Given the description of an element on the screen output the (x, y) to click on. 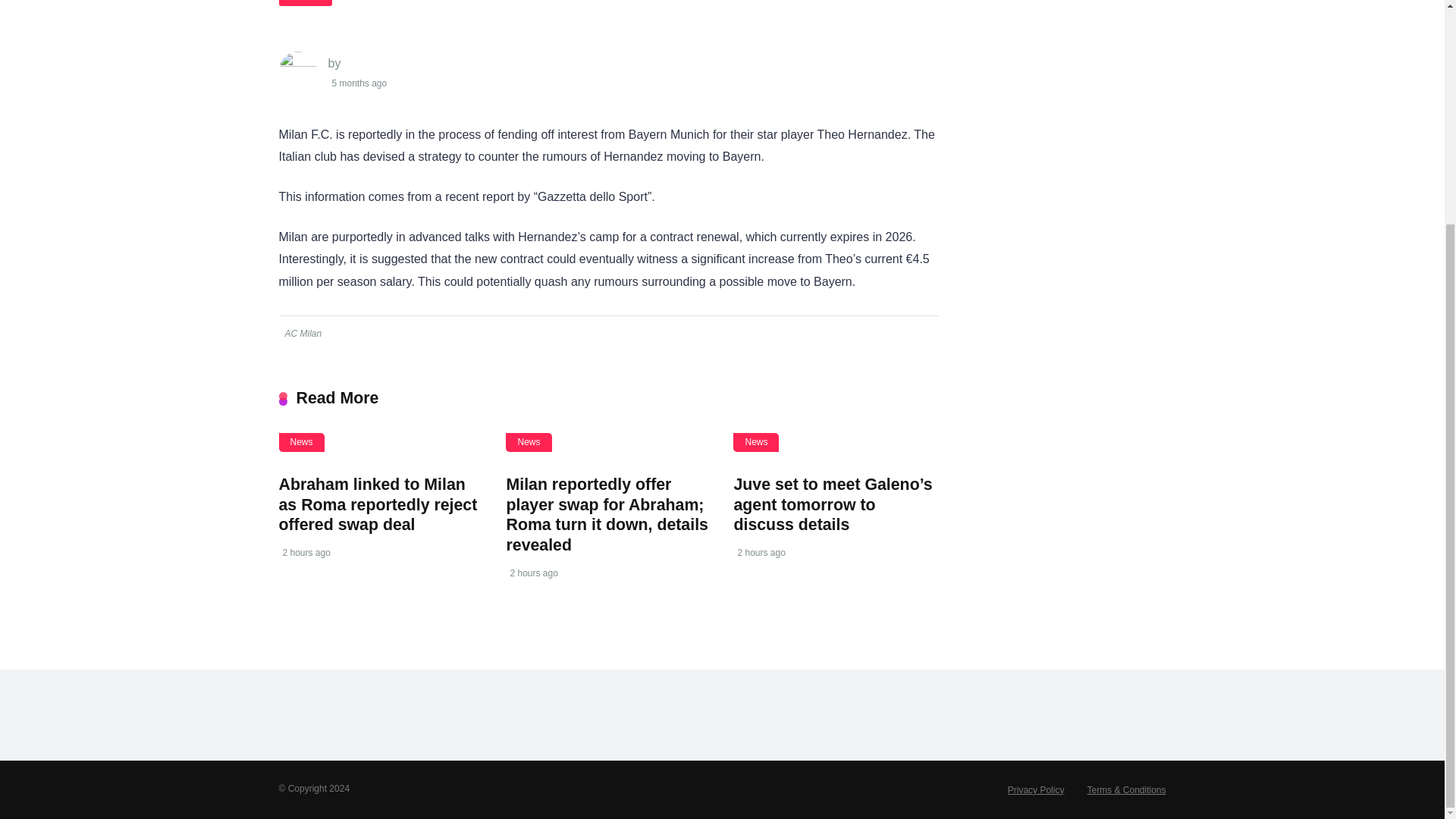
News (301, 442)
News (755, 442)
Privacy Policy (1035, 789)
News (305, 2)
AC Milan (301, 333)
News (528, 442)
